Given the description of an element on the screen output the (x, y) to click on. 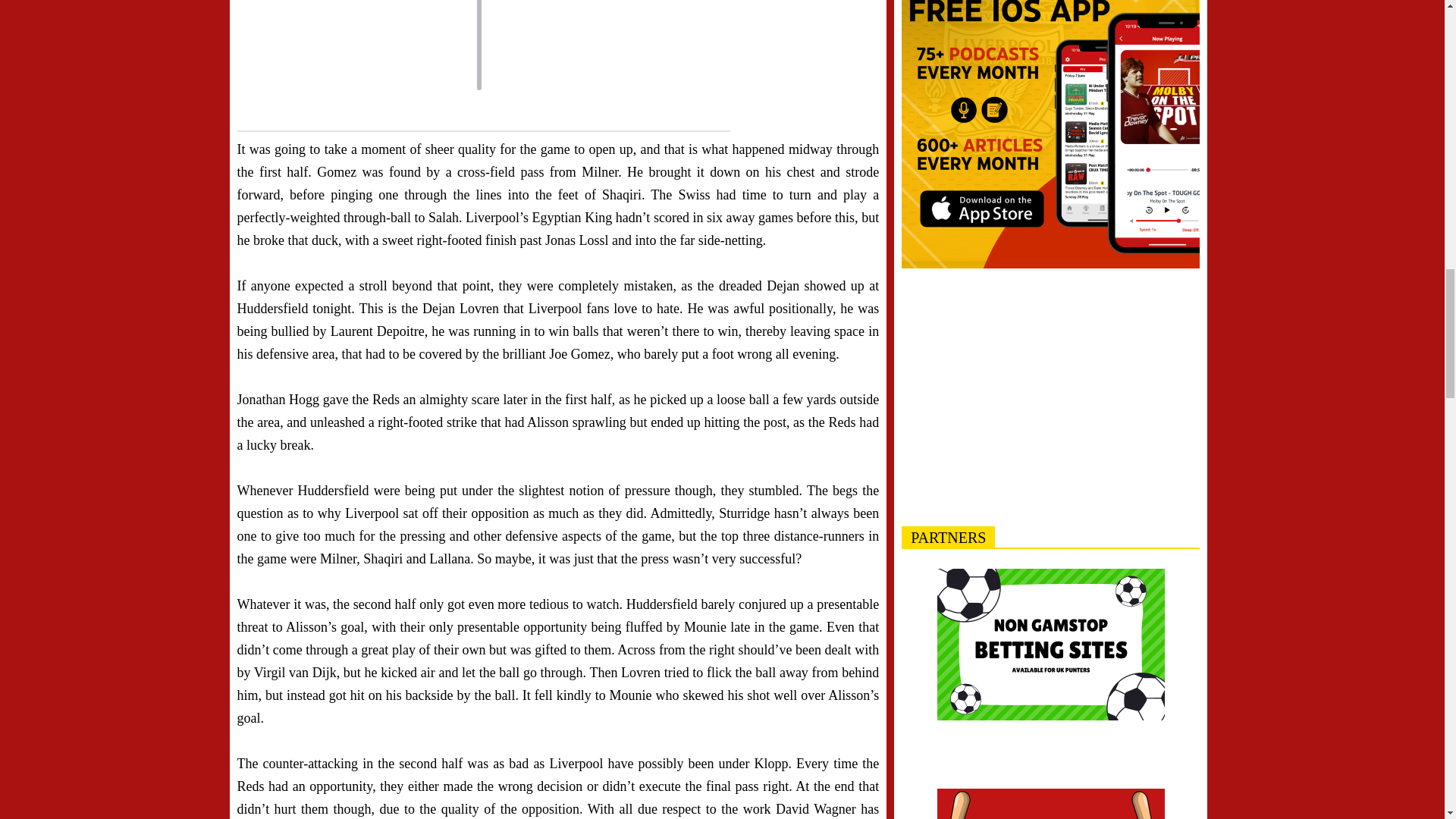
betting-sites-not-on-gamstop.png (1050, 644)
NonGamstopCasinos.net (1050, 803)
